Given the description of an element on the screen output the (x, y) to click on. 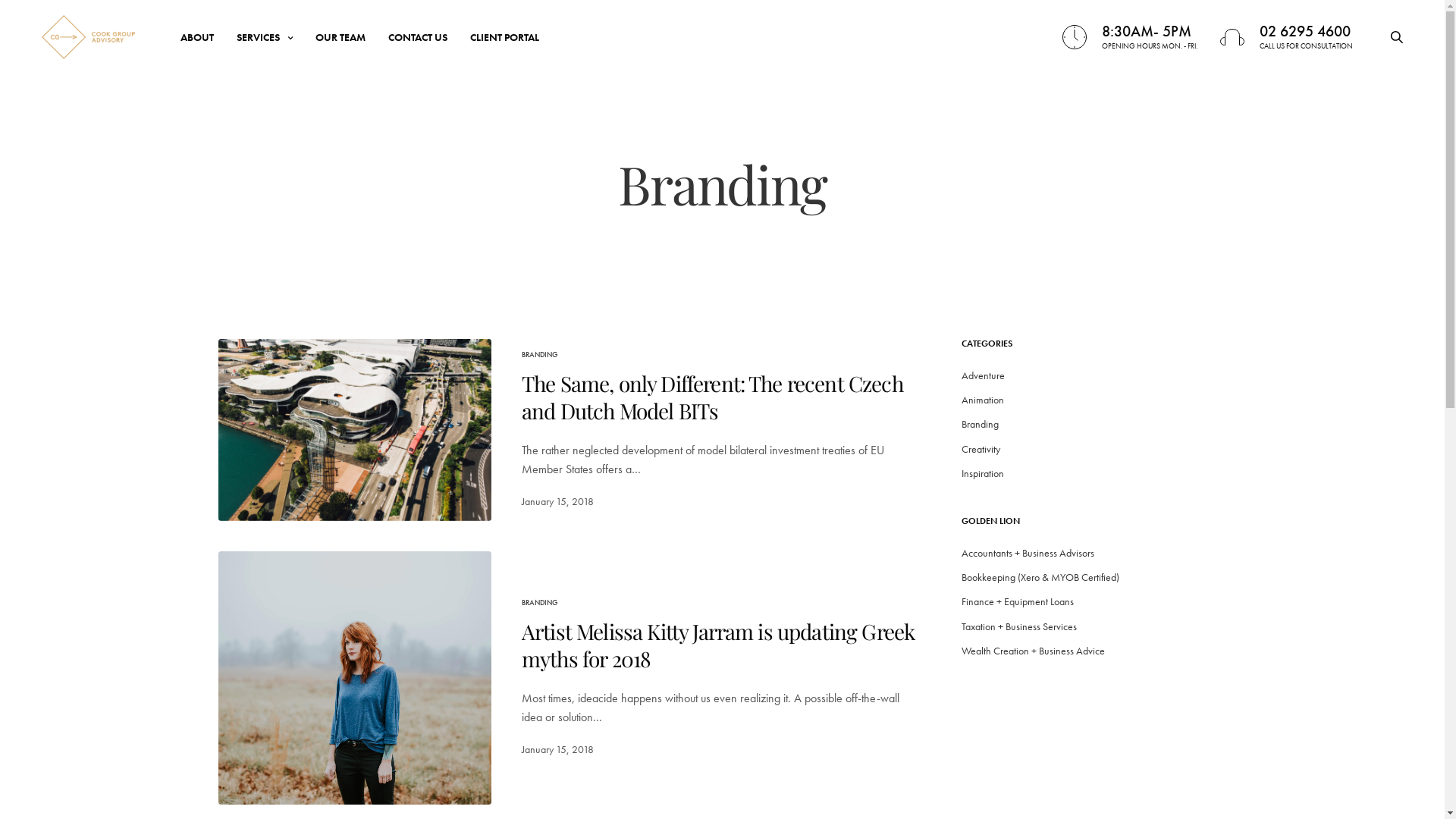
ABOUT Element type: text (196, 36)
SERVICES Element type: text (264, 36)
Finance + Equipment Loans Element type: text (1017, 601)
Artist Melissa Kitty Jarram is updating Greek myths for 2018 Element type: text (718, 644)
CONTACT US Element type: text (417, 36)
Branding Element type: text (979, 423)
Wealth Creation + Business Advice Element type: text (1032, 650)
BRANDING Element type: text (539, 353)
Accountants + Business Advisors Element type: text (1027, 552)
Creativity Element type: text (980, 448)
Cook Group Advisory Element type: hover (87, 37)
Adventure Element type: text (982, 375)
Animation Element type: text (982, 399)
OUR TEAM Element type: text (340, 36)
Artist Melissa Kitty Jarram is updating Greek myths for 2018 Element type: hover (354, 677)
CLIENT PORTAL Element type: text (504, 36)
BRANDING Element type: text (539, 602)
Taxation + Business Services Element type: text (1018, 626)
Bookkeeping (Xero & MYOB Certified) Element type: text (1040, 576)
Inspiration Element type: text (982, 473)
